Given the description of an element on the screen output the (x, y) to click on. 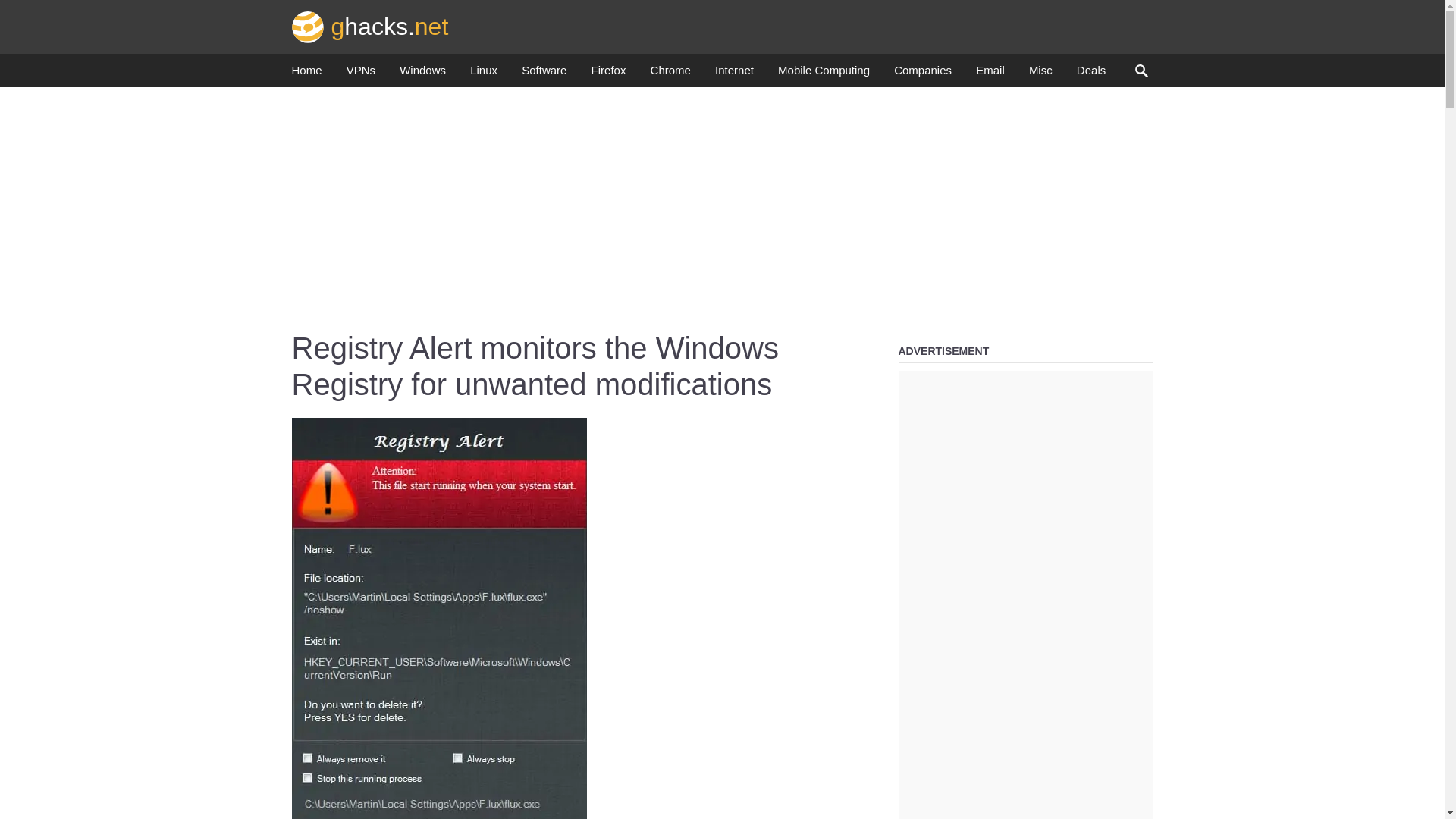
Misc (1040, 73)
Linux (483, 73)
Windows (421, 73)
Email (989, 73)
Companies (922, 73)
VPNs (360, 73)
Internet (734, 73)
Firefox (608, 73)
Software (543, 73)
Chrome (670, 73)
